Given the description of an element on the screen output the (x, y) to click on. 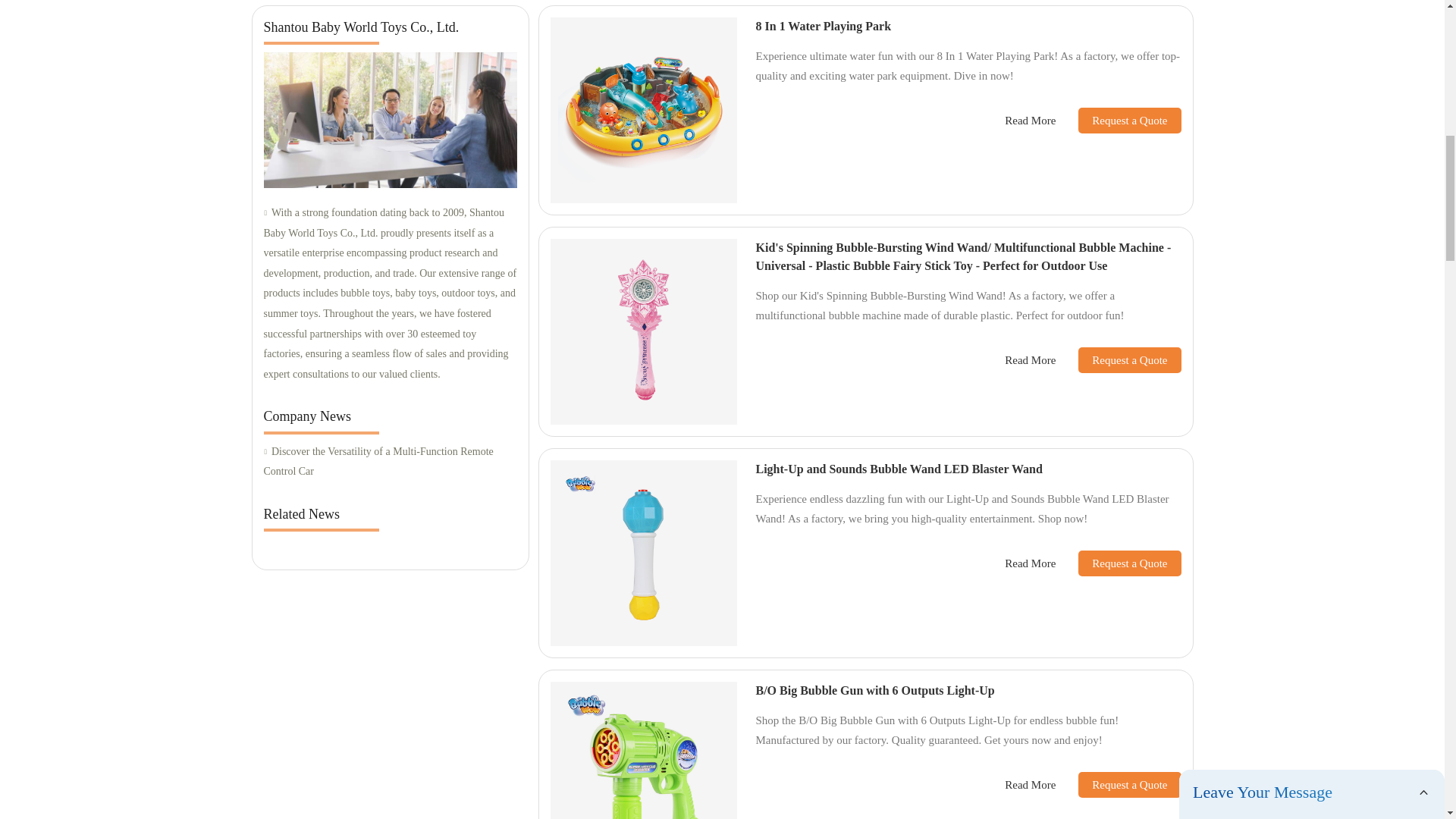
Request a Quote (1117, 784)
8 In 1 Water Playing Park (823, 25)
Read More (1029, 120)
Request a Quote (1117, 120)
Light-Up and Sounds Bubble Wand LED Blaster Wand (898, 468)
Request a Quote (1117, 360)
Read More (1029, 784)
Request a Quote (1117, 563)
Read More (1029, 360)
